Given the description of an element on the screen output the (x, y) to click on. 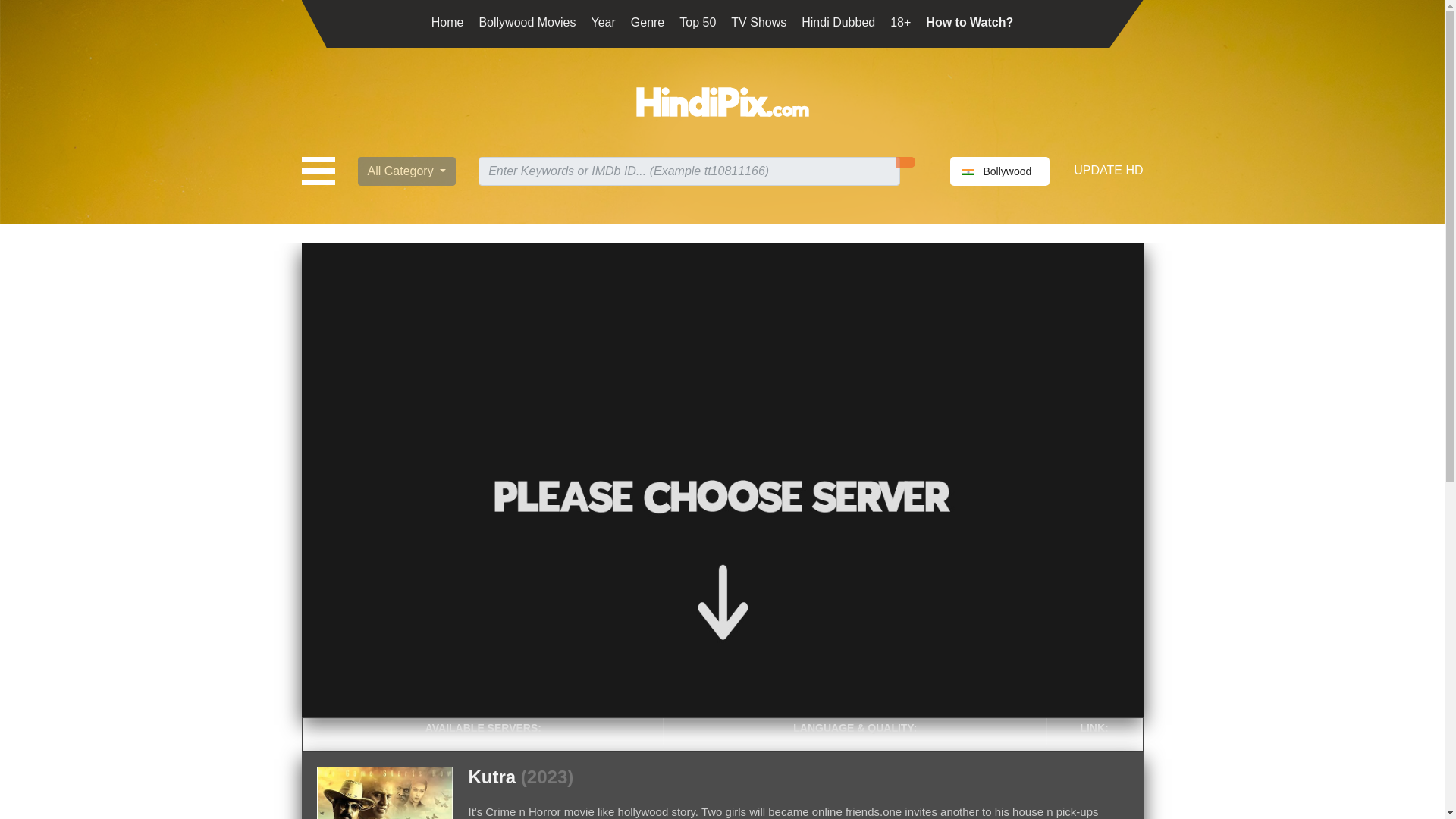
TV Shows (758, 21)
Bollywood Movies (527, 21)
How to Watch? (969, 21)
United Kingdom (968, 171)
Home (447, 21)
Top 50 (697, 21)
Hindi Dubbed (838, 21)
Language (999, 171)
Use 3 letters min (689, 171)
All Category (407, 171)
Genre (646, 21)
Year (602, 21)
